Given the description of an element on the screen output the (x, y) to click on. 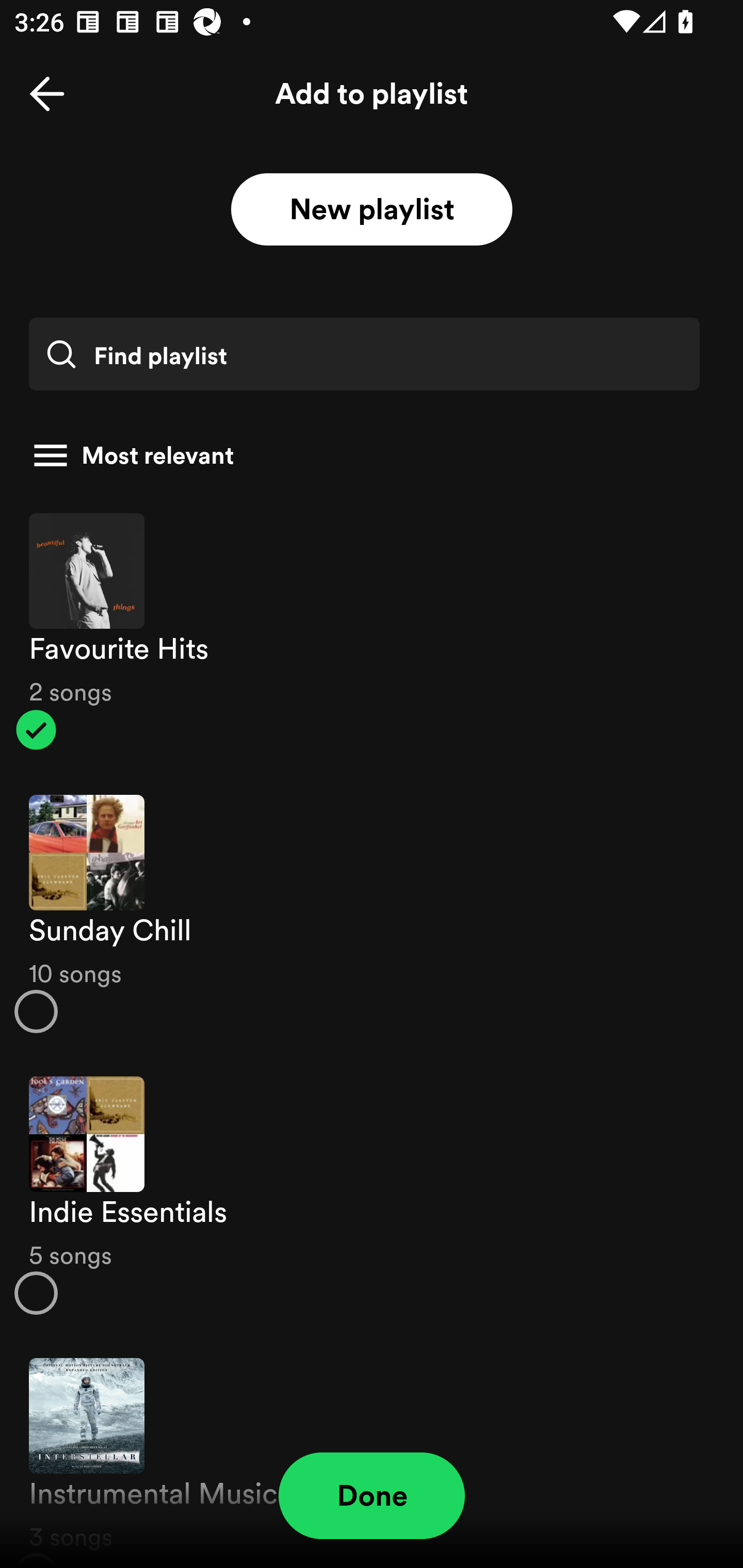
Back (46, 93)
New playlist (371, 210)
Find playlist (363, 354)
Most relevant (363, 455)
Favourite Hits 2 songs (371, 631)
Sunday Chill 10 songs (371, 914)
Indie Essentials 5 songs (371, 1195)
Instrumental Music 3 songs (371, 1451)
Done (371, 1495)
